Given the description of an element on the screen output the (x, y) to click on. 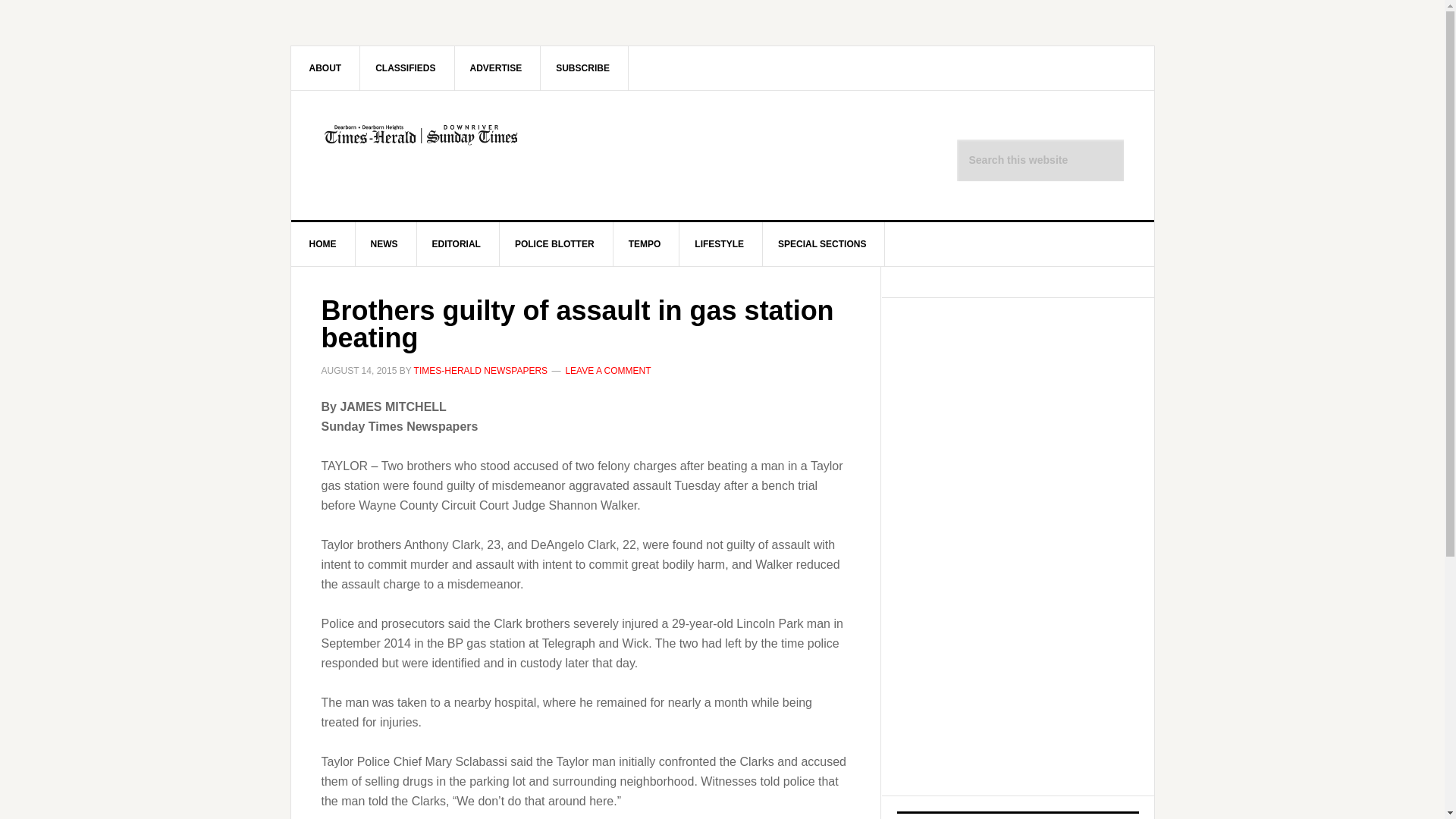
NEWS (384, 243)
TIMES-HERALD AND SUNDAY TIMES NEWSPAPERS (419, 155)
HOME (323, 243)
LIFESTYLE (719, 243)
ABOUT (326, 67)
EDITORIAL (456, 243)
LEAVE A COMMENT (607, 370)
POLICE BLOTTER (554, 243)
TEMPO (644, 243)
